Given the description of an element on the screen output the (x, y) to click on. 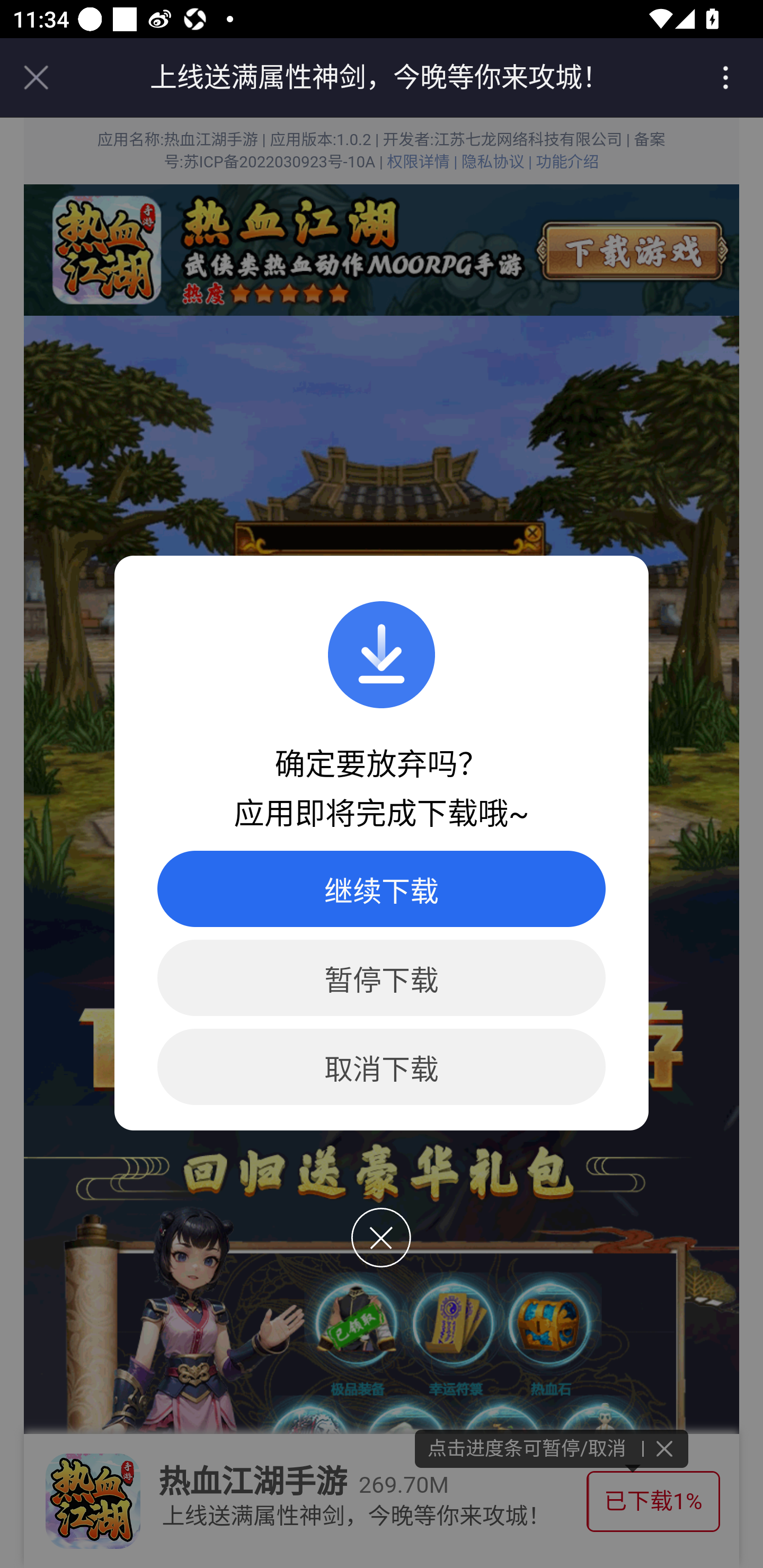
继续下载 (381, 888)
暂停下载 (381, 978)
取消下载 (381, 1066)
